Given the description of an element on the screen output the (x, y) to click on. 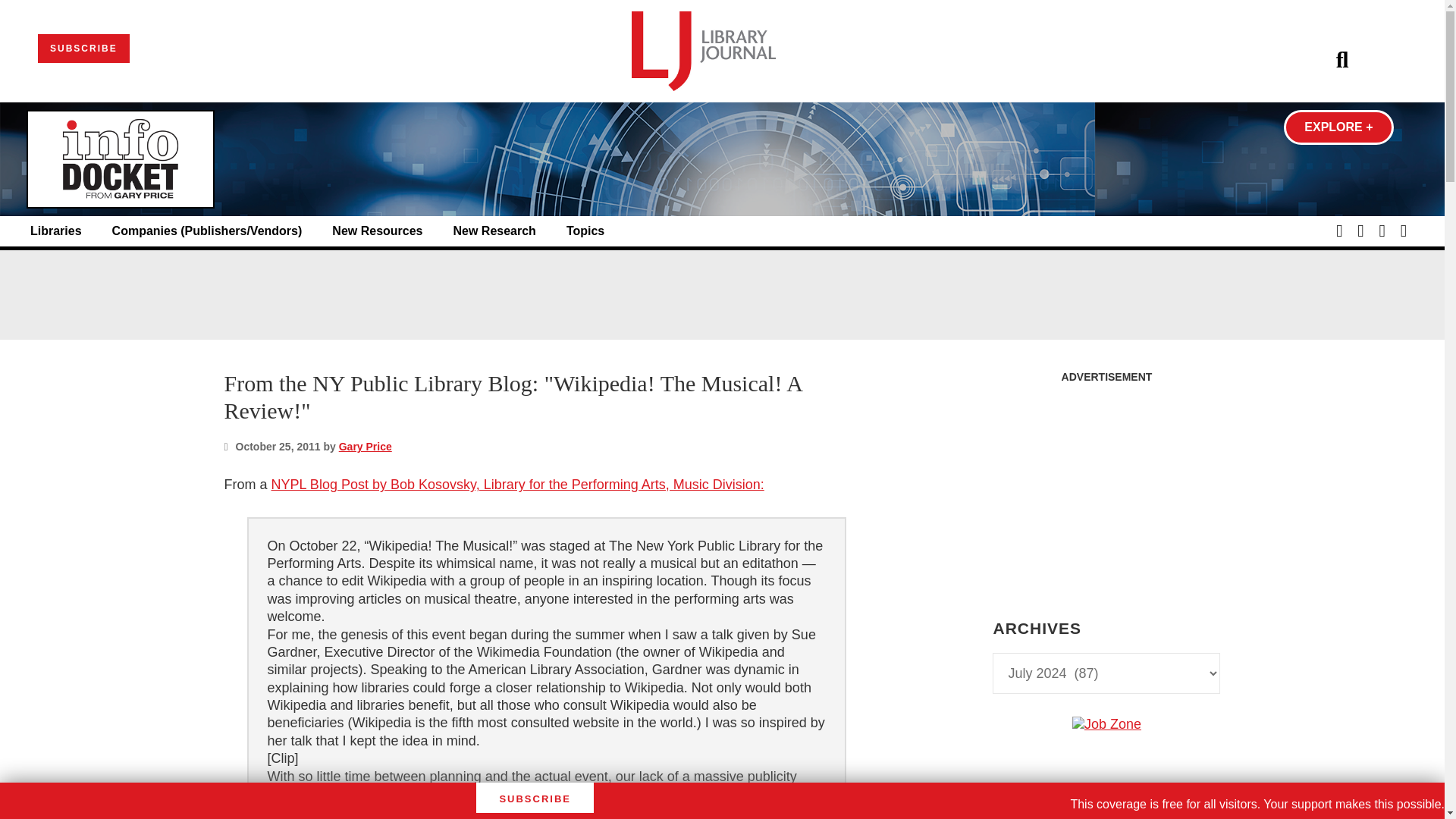
3rd party ad content (1106, 485)
New Resources (376, 231)
SUBSCRIBE (83, 48)
Libraries (55, 231)
3rd party ad content (721, 294)
3rd party ad content (1106, 816)
